Given the description of an element on the screen output the (x, y) to click on. 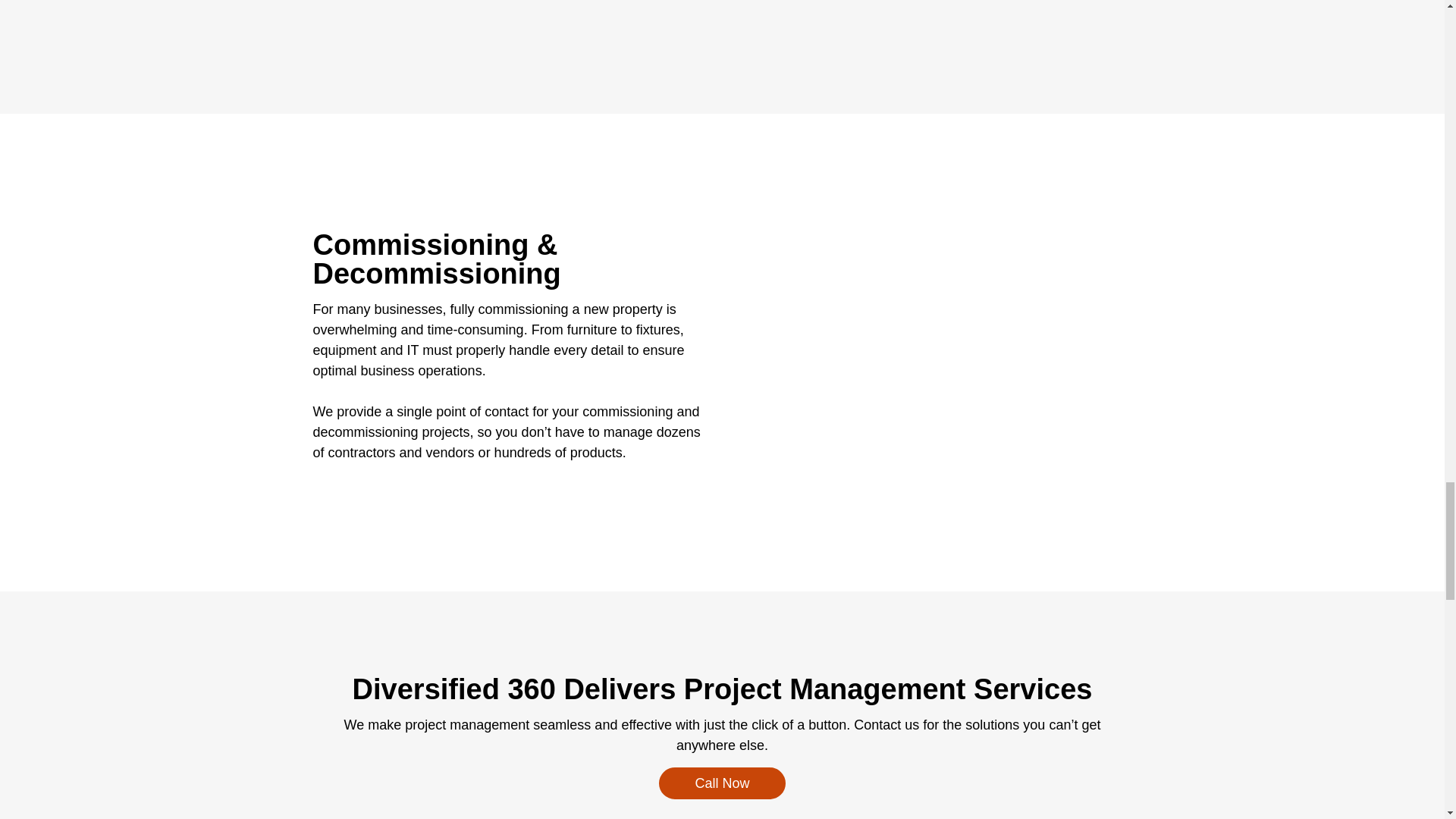
Call Now (721, 783)
